Given the description of an element on the screen output the (x, y) to click on. 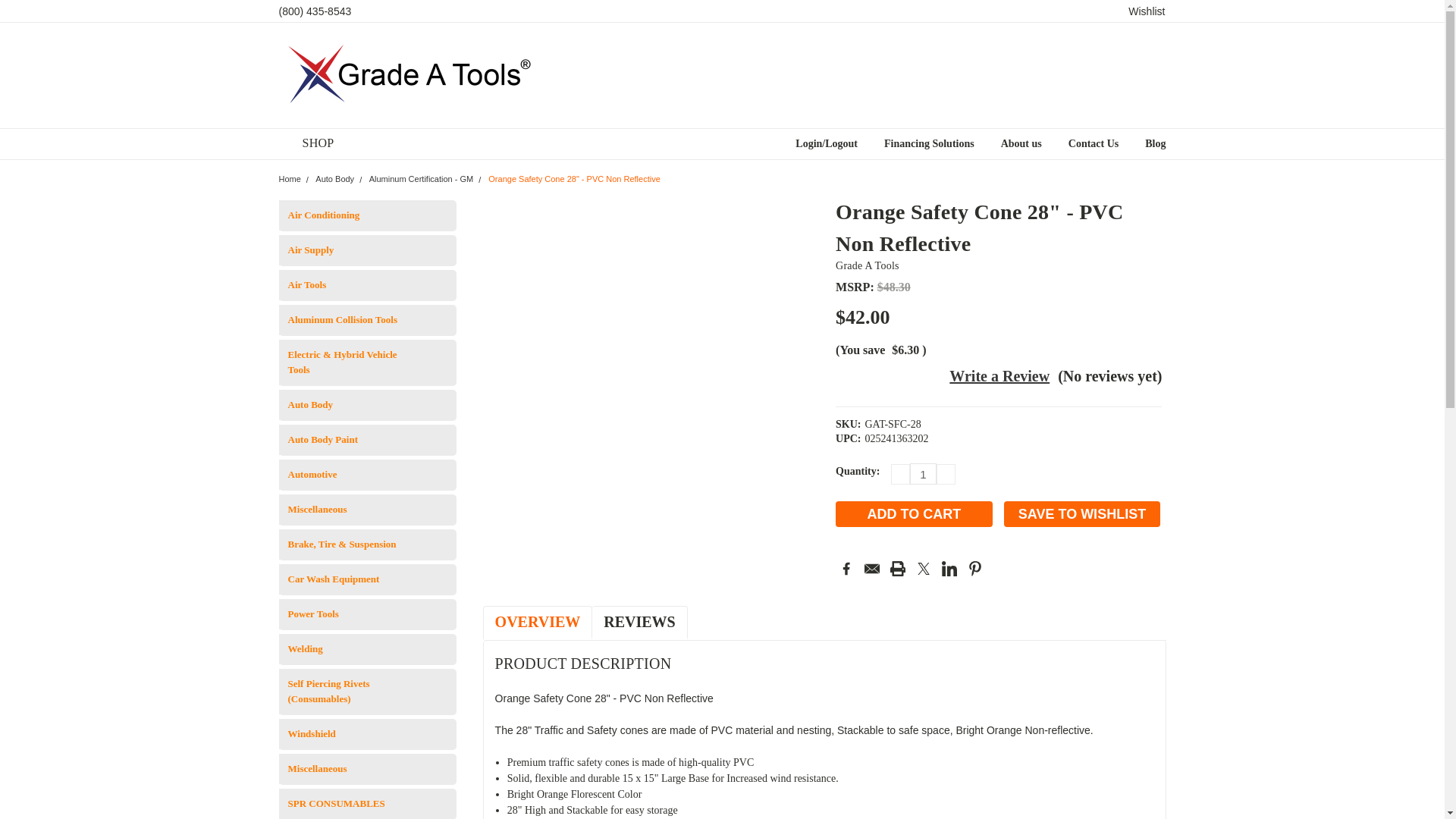
Facebook (845, 568)
Wishlist (1146, 10)
Email (871, 568)
Linkedin (949, 568)
Twitter (923, 568)
Grade A Tools (421, 75)
Pinterest (975, 568)
1 (923, 473)
Print (897, 568)
Add to Cart (913, 514)
